Given the description of an element on the screen output the (x, y) to click on. 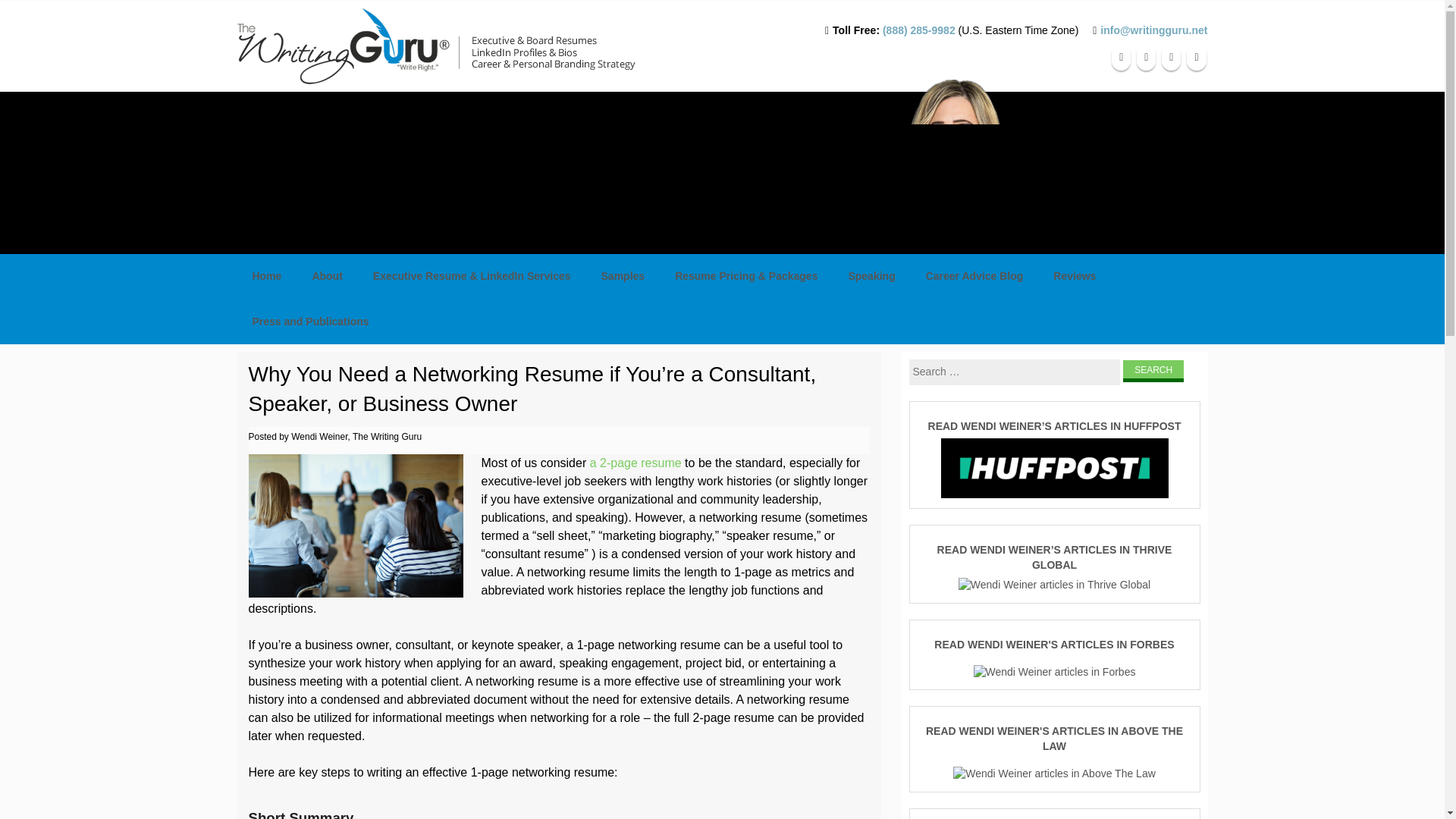
Speaking (871, 276)
The Writing Guru (478, 46)
Linked In (1171, 56)
About (326, 276)
Reviews (1074, 276)
Twitter (1146, 56)
Home (266, 276)
Instagram (1196, 56)
a 2-page resume (633, 462)
The Writing Guru (448, 46)
